Given the description of an element on the screen output the (x, y) to click on. 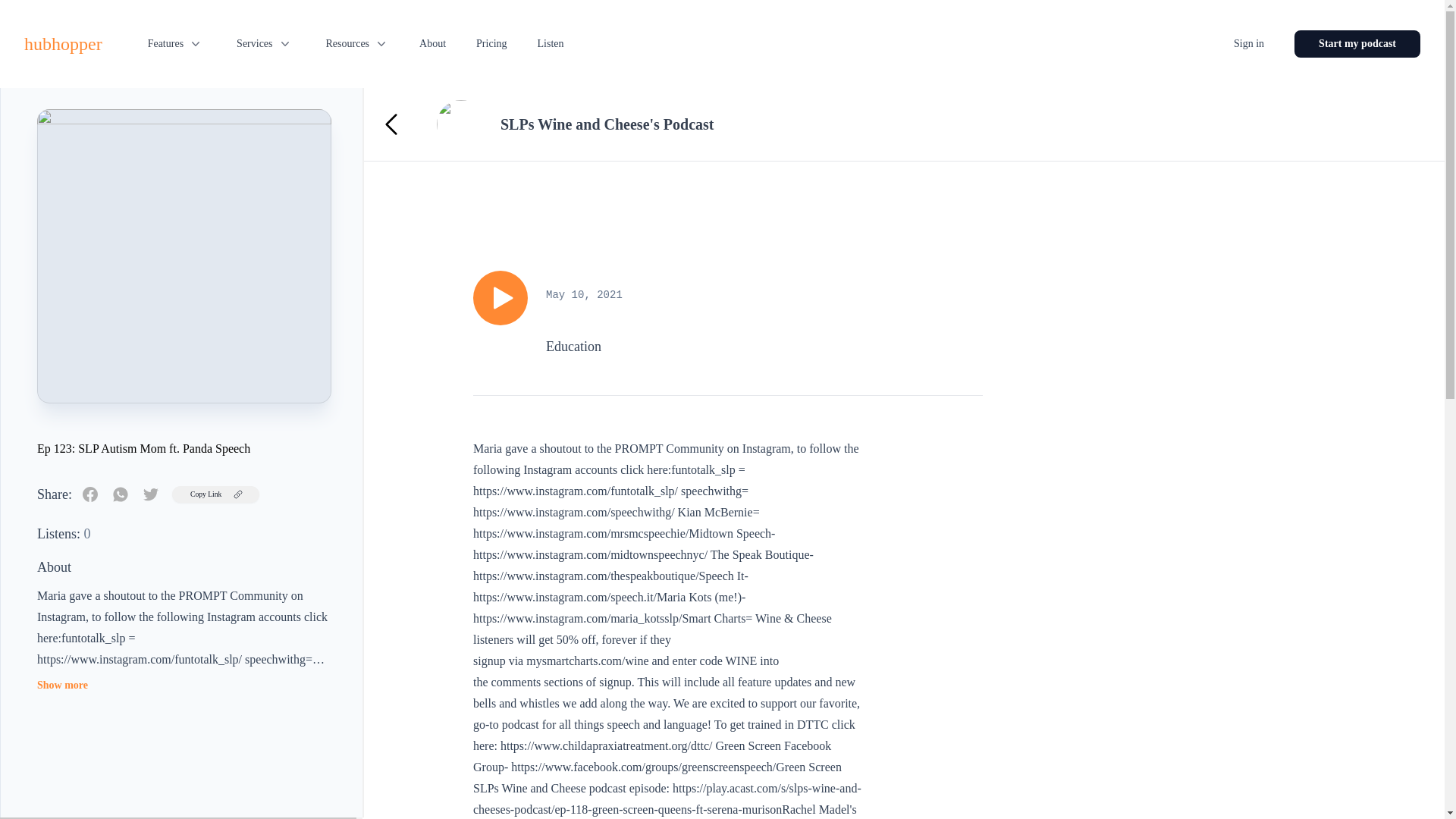
Listen (550, 43)
Start my podcast (1357, 43)
About (432, 43)
Show more (62, 685)
Twitter (150, 494)
Features (173, 43)
Pricing (491, 43)
Resources (356, 43)
Services (262, 43)
Copy Link (215, 494)
